Given the description of an element on the screen output the (x, y) to click on. 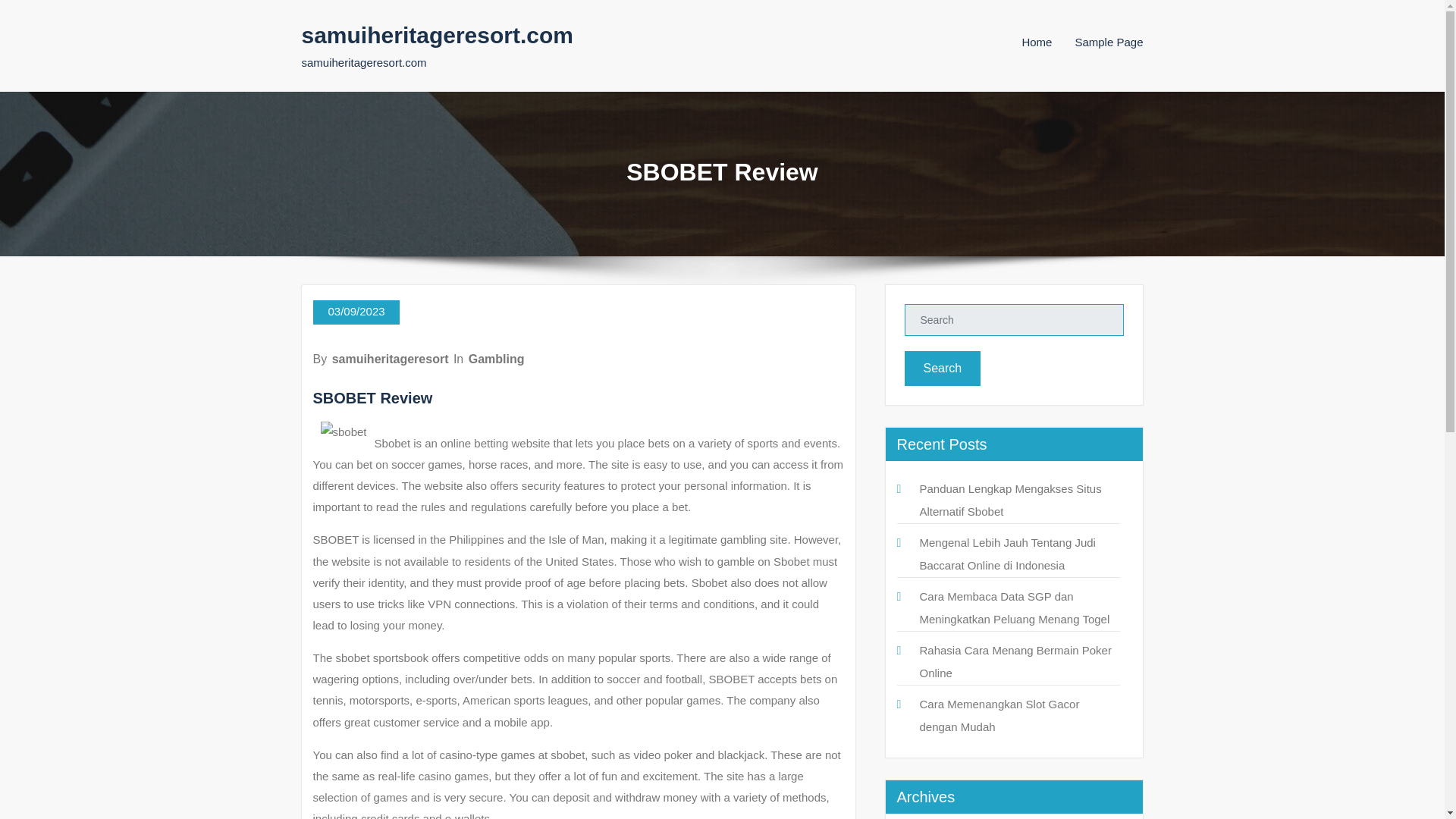
Gambling (496, 358)
samuiheritageresort (389, 358)
Sample Page (1108, 41)
Home (1036, 41)
samuiheritageresort.com (437, 34)
Cara Membaca Data SGP dan Meningkatkan Peluang Menang Togel (1013, 607)
Rahasia Cara Menang Bermain Poker Online (1014, 661)
Search (941, 368)
Panduan Lengkap Mengakses Situs Alternatif Sbobet (1009, 499)
Home (1036, 41)
Cara Memenangkan Slot Gacor dengan Mudah (998, 715)
